Given the description of an element on the screen output the (x, y) to click on. 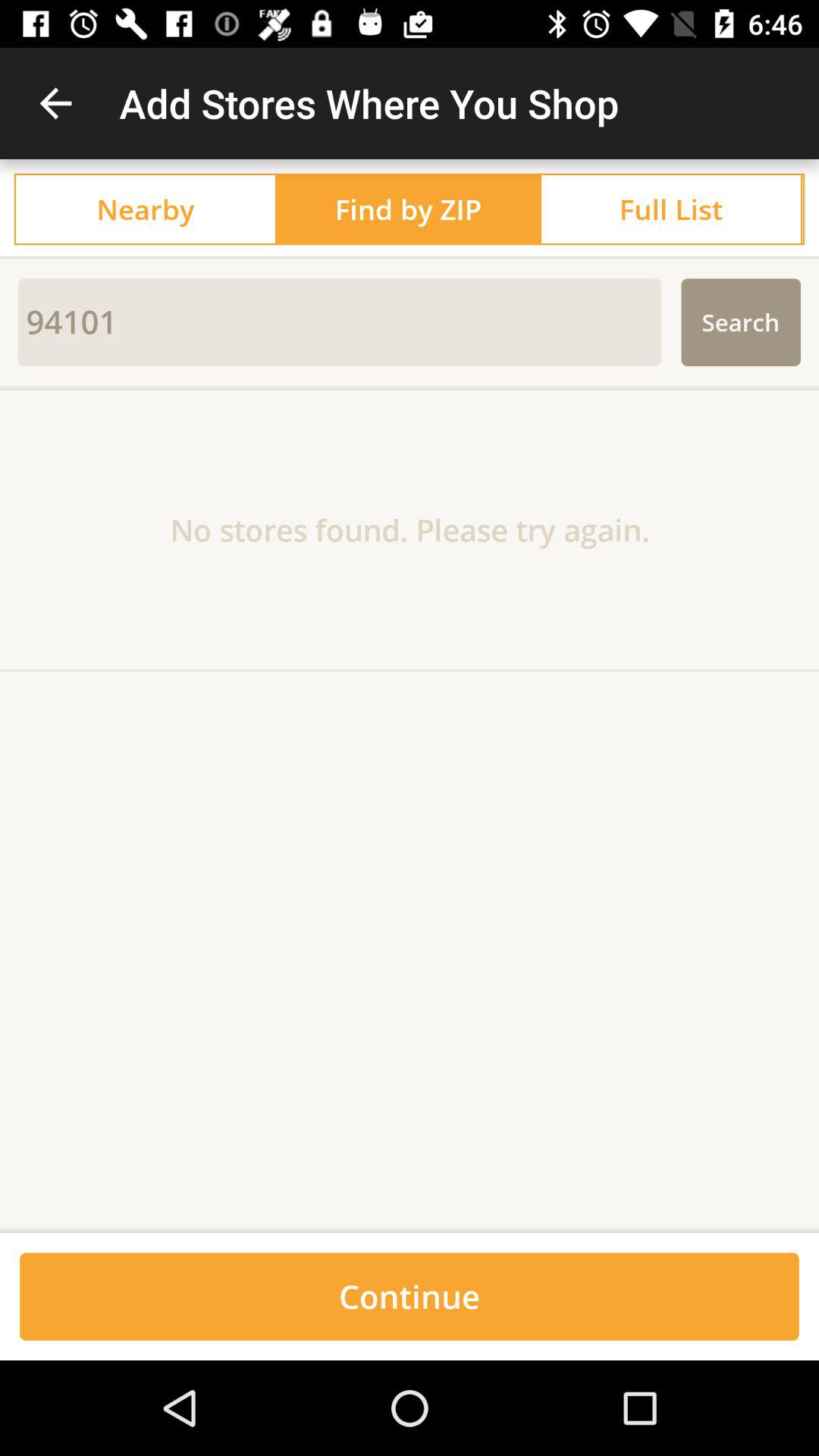
click the icon above the nearby item (55, 103)
